Given the description of an element on the screen output the (x, y) to click on. 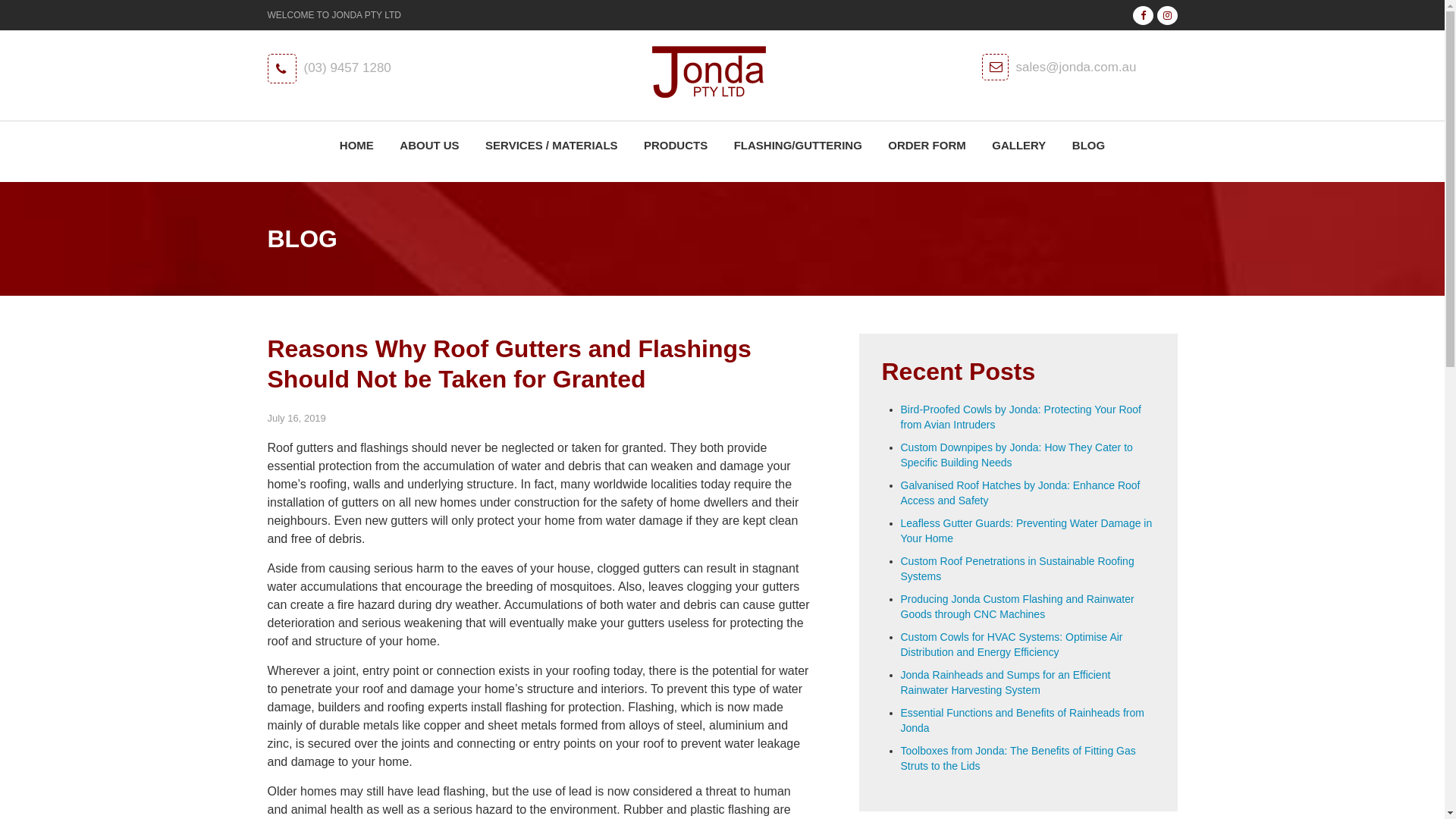
PRODUCTS Element type: text (675, 145)
Custom Roof Penetrations in Sustainable Roofing Systems Element type: text (1017, 568)
Leafless Gutter Guards: Preventing Water Damage in Your Home Element type: text (1026, 530)
Essential Functions and Benefits of Rainheads from Jonda Element type: text (1022, 720)
SERVICES / MATERIALS Element type: text (551, 145)
HOME Element type: text (356, 145)
ABOUT US Element type: text (428, 145)
BLOG Element type: text (1088, 145)
GALLERY Element type: text (1018, 145)
ORDER FORM Element type: text (927, 145)
FLASHING/GUTTERING Element type: text (798, 145)
